Given the description of an element on the screen output the (x, y) to click on. 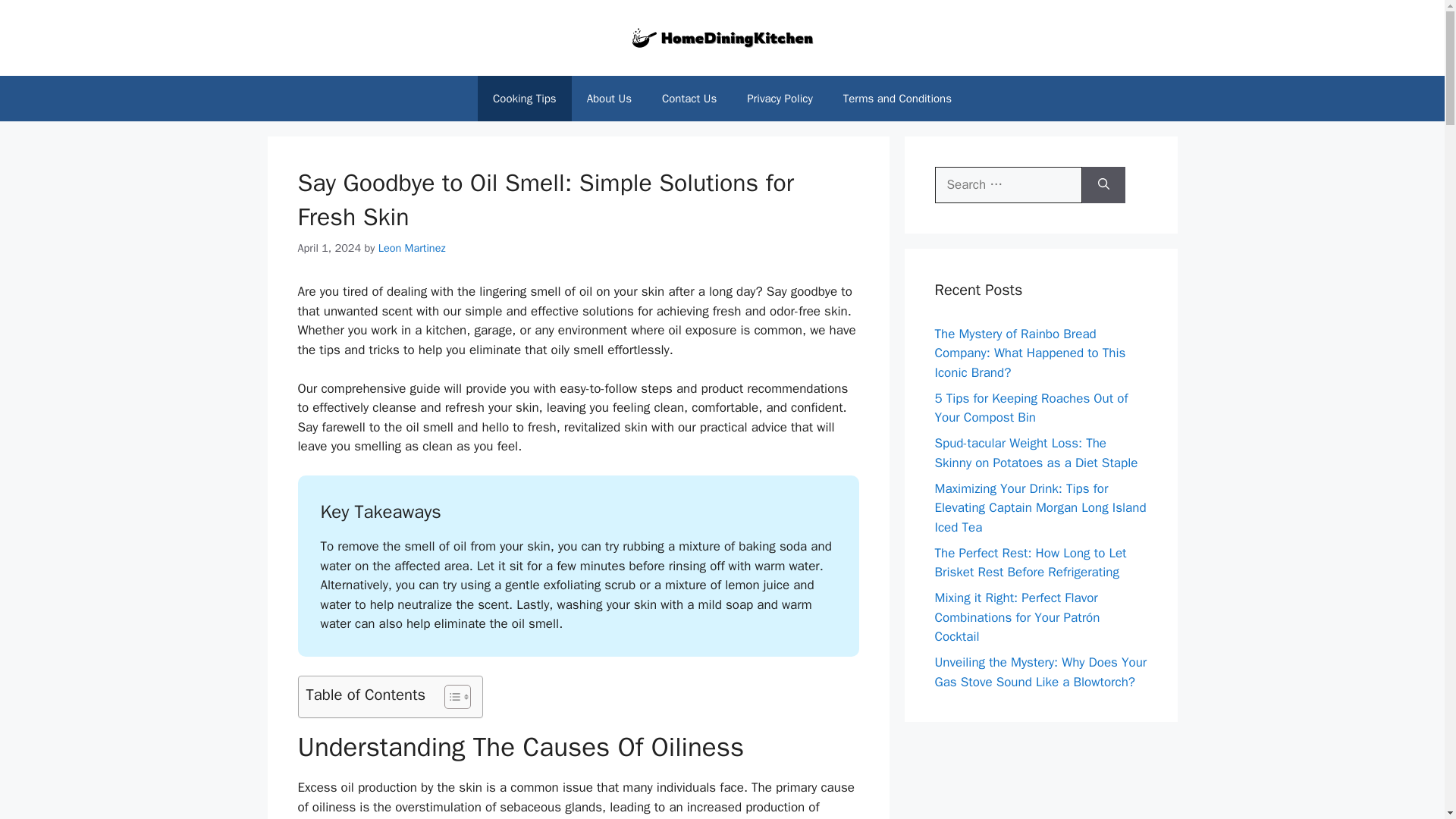
Cooking Tips (524, 98)
Leon Martinez (411, 247)
5 Tips for Keeping Roaches Out of Your Compost Bin (1030, 407)
Contact Us (689, 98)
View all posts by Leon Martinez (411, 247)
Terms and Conditions (897, 98)
Privacy Policy (780, 98)
About Us (609, 98)
